Given the description of an element on the screen output the (x, y) to click on. 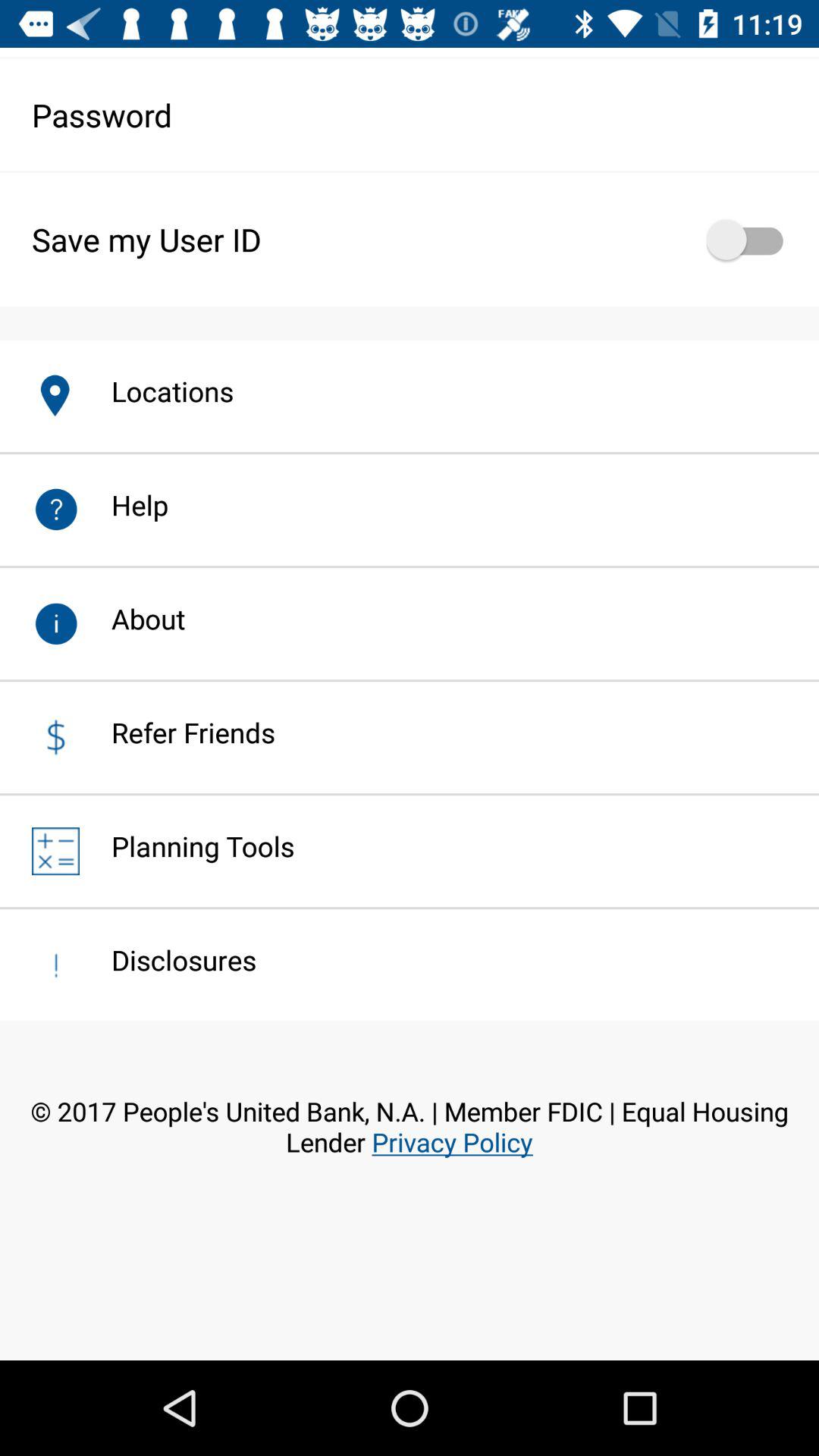
swipe to the about app (132, 618)
